Given the description of an element on the screen output the (x, y) to click on. 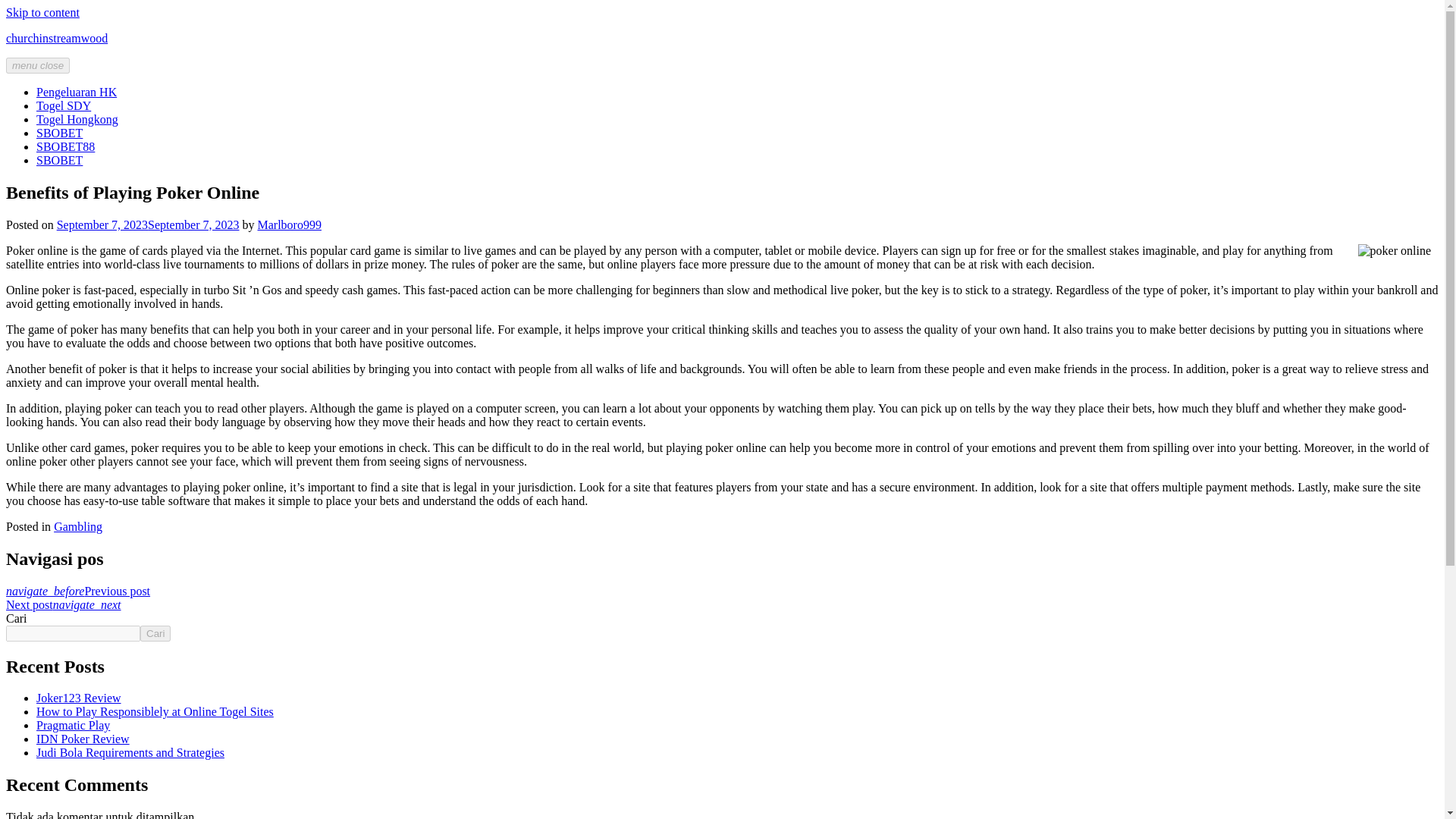
churchinstreamwood (56, 38)
SBOBET88 (65, 146)
Pragmatic Play (73, 725)
Gambling (77, 526)
How to Play Responsiblely at Online Togel Sites (154, 711)
SBOBET (59, 132)
September 7, 2023September 7, 2023 (148, 224)
Togel SDY (63, 105)
Joker123 Review (78, 697)
Marlboro999 (289, 224)
